Given the description of an element on the screen output the (x, y) to click on. 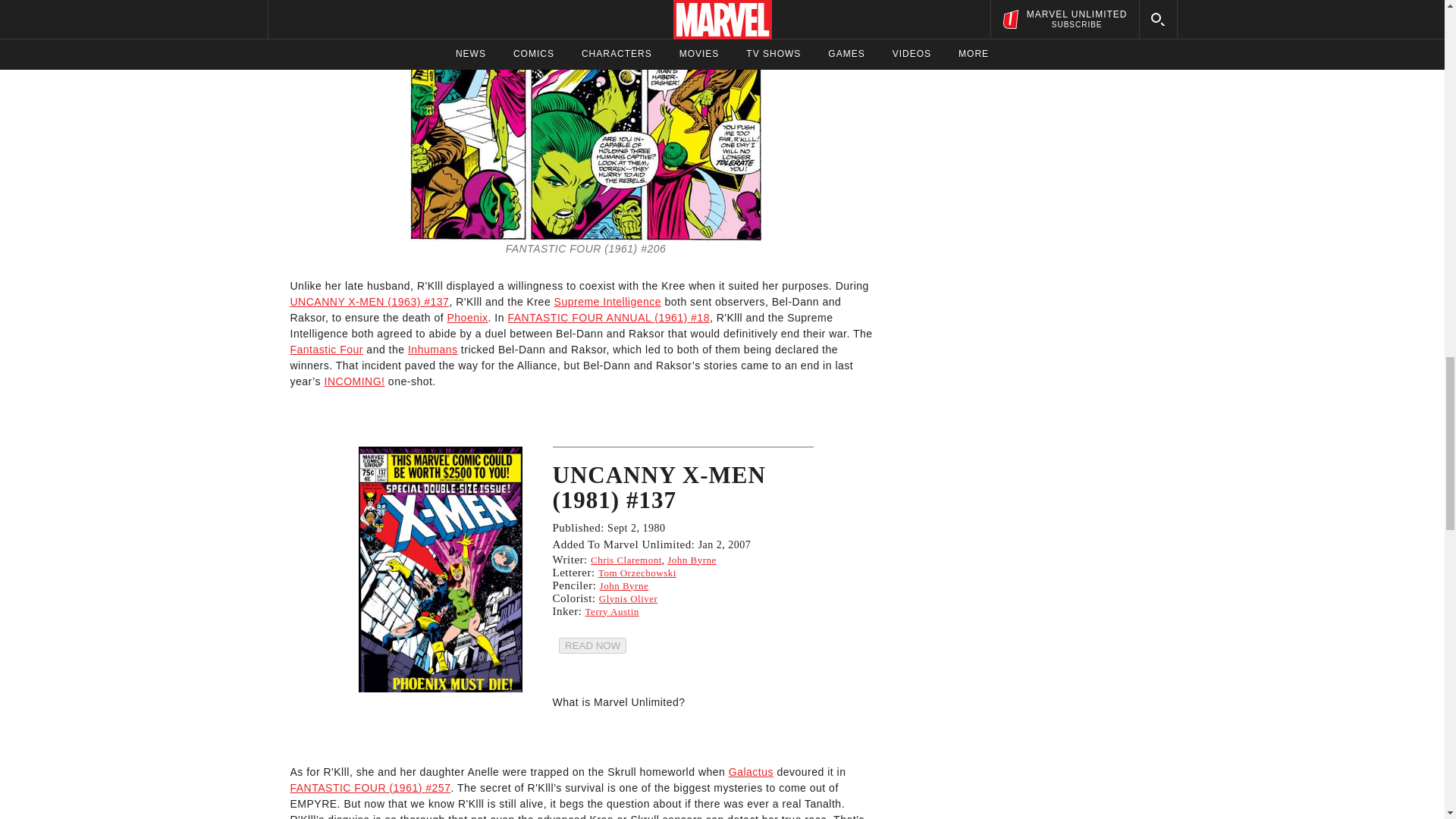
Supreme Intelligence (608, 301)
Chris Claremont (626, 559)
Fantastic Four (325, 349)
Tom Orzechowski (637, 572)
What is Marvel Unlimited? (617, 702)
Terry Austin (612, 611)
John Byrne (691, 559)
Phoenix (466, 317)
Glynis Oliver (628, 598)
Galactus (751, 771)
